Given the description of an element on the screen output the (x, y) to click on. 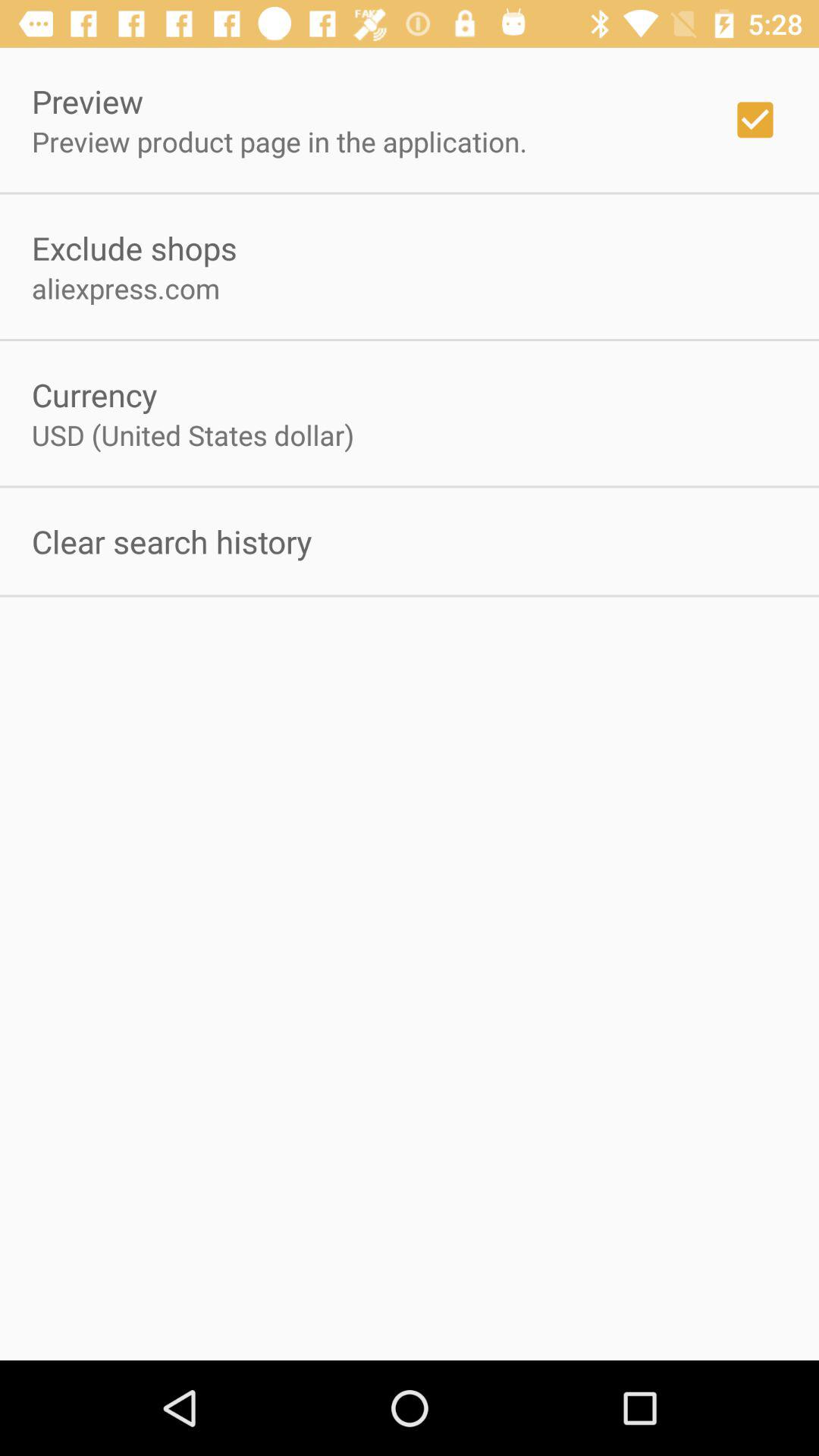
choose the item below the aliexpress.com app (94, 394)
